Given the description of an element on the screen output the (x, y) to click on. 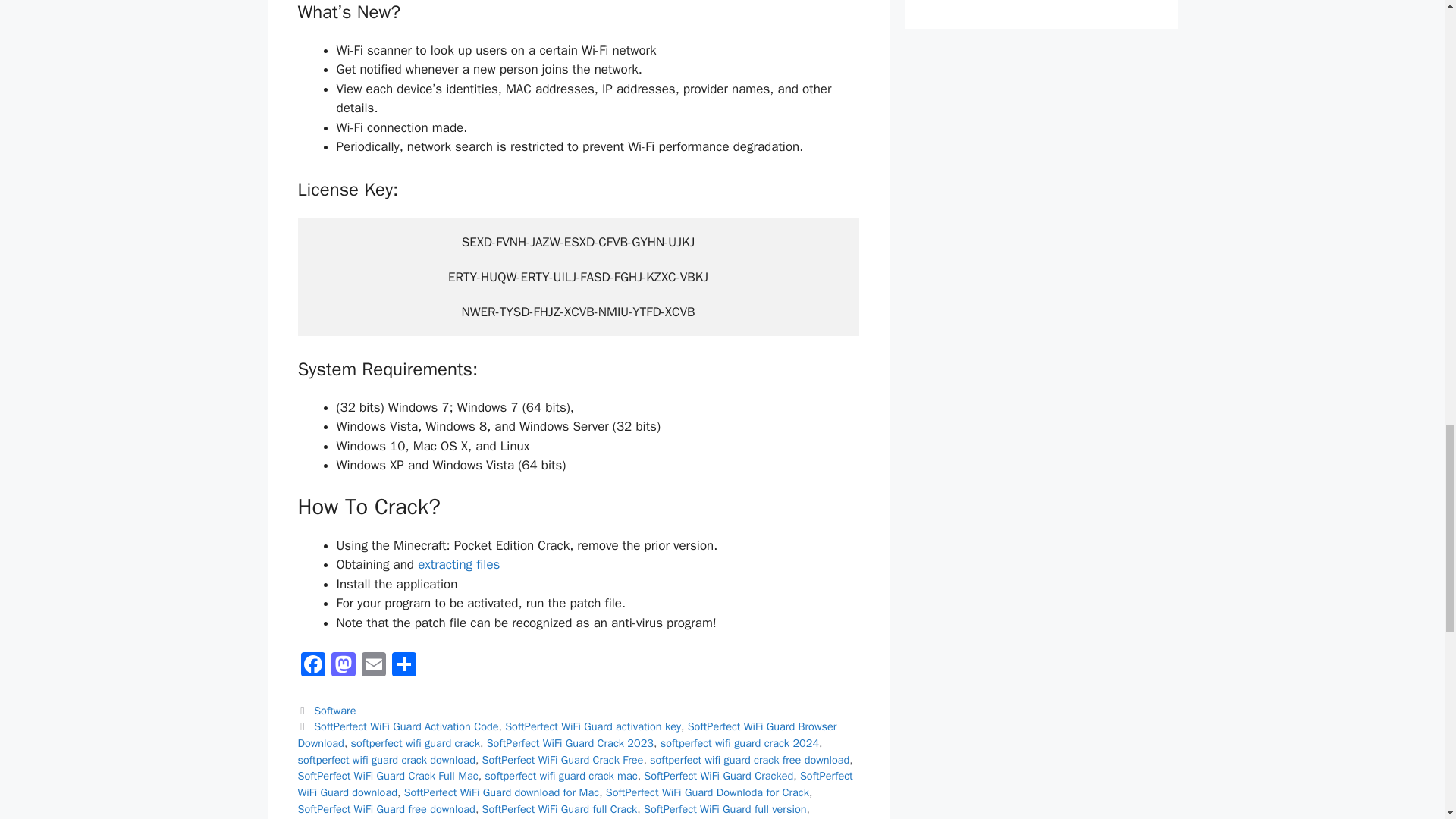
SoftPerfect WiFi Guard download (574, 784)
softperfect wifi guard crack 2024 (739, 743)
softperfect wifi guard crack download (385, 759)
SoftPerfect WiFi Guard Crack Free (562, 759)
softperfect wifi guard crack (415, 743)
SoftPerfect WiFi Guard Browser Download (566, 734)
Facebook (312, 665)
Mastodon (342, 665)
SoftPerfect WiFi Guard full Crack (559, 808)
